Given the description of an element on the screen output the (x, y) to click on. 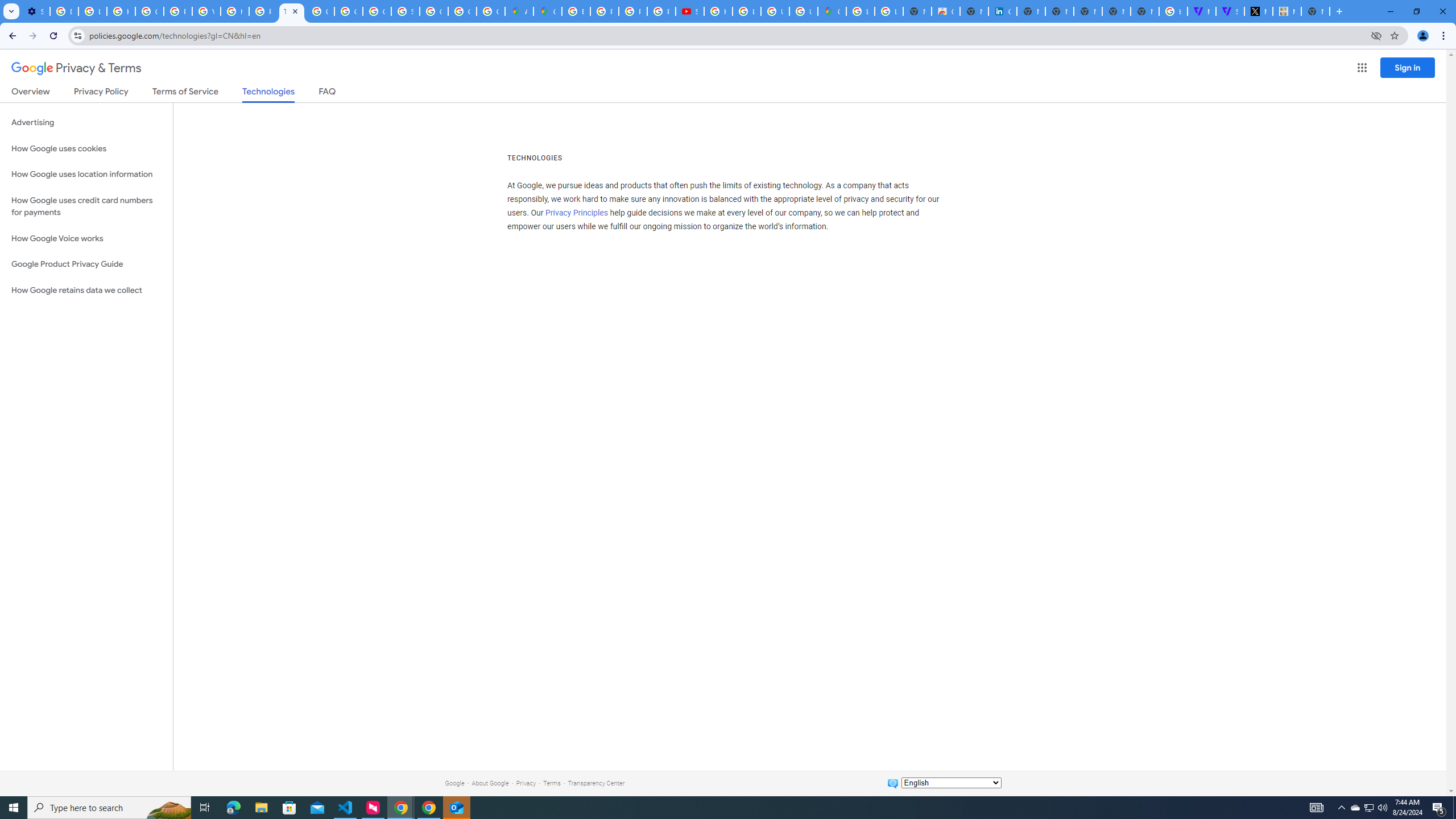
Privacy Principles (577, 213)
